Given the description of an element on the screen output the (x, y) to click on. 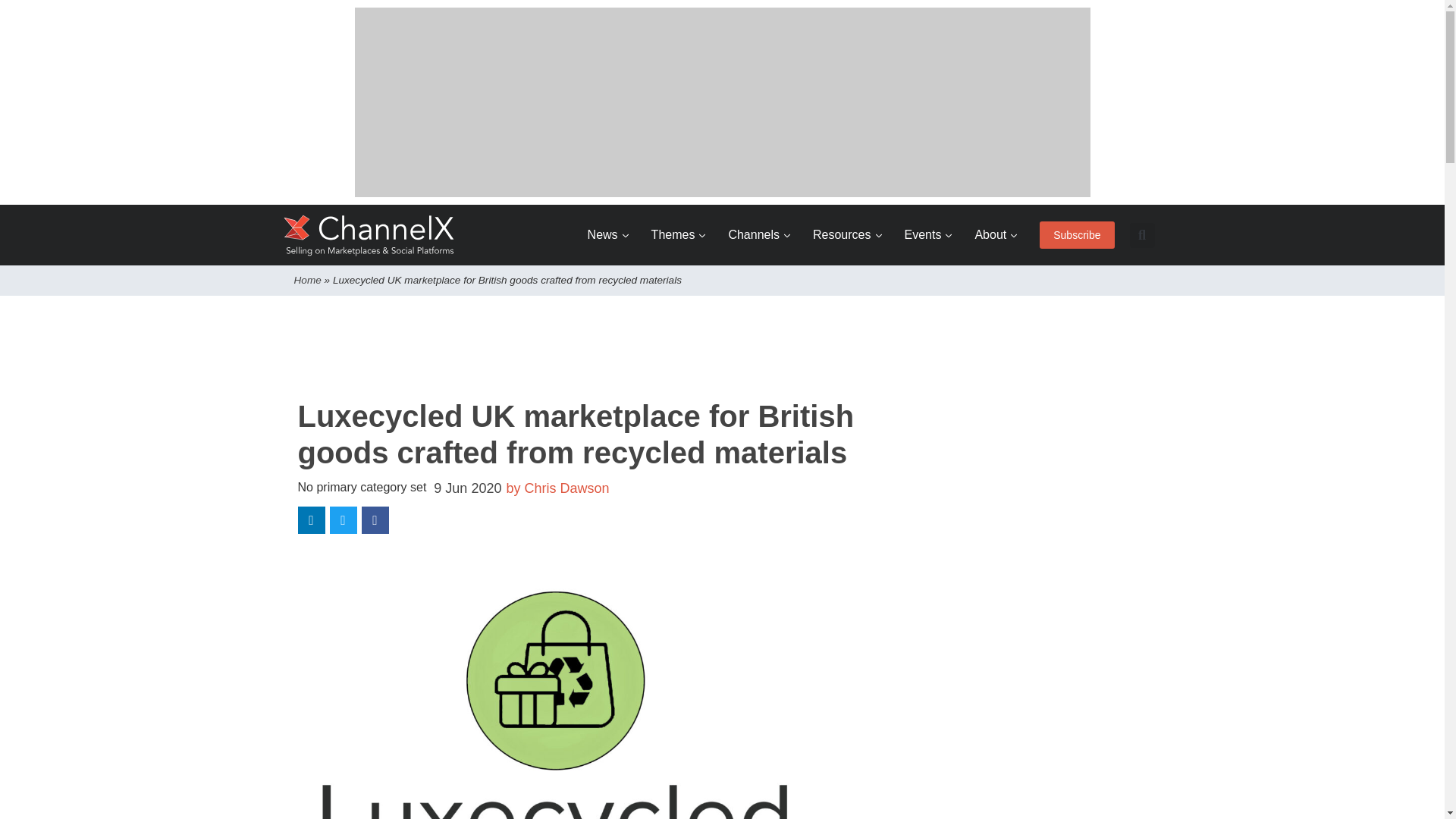
Themes (678, 234)
Resources (846, 234)
News (607, 234)
Channels (758, 234)
ChannelX Home Page (369, 234)
